Given the description of an element on the screen output the (x, y) to click on. 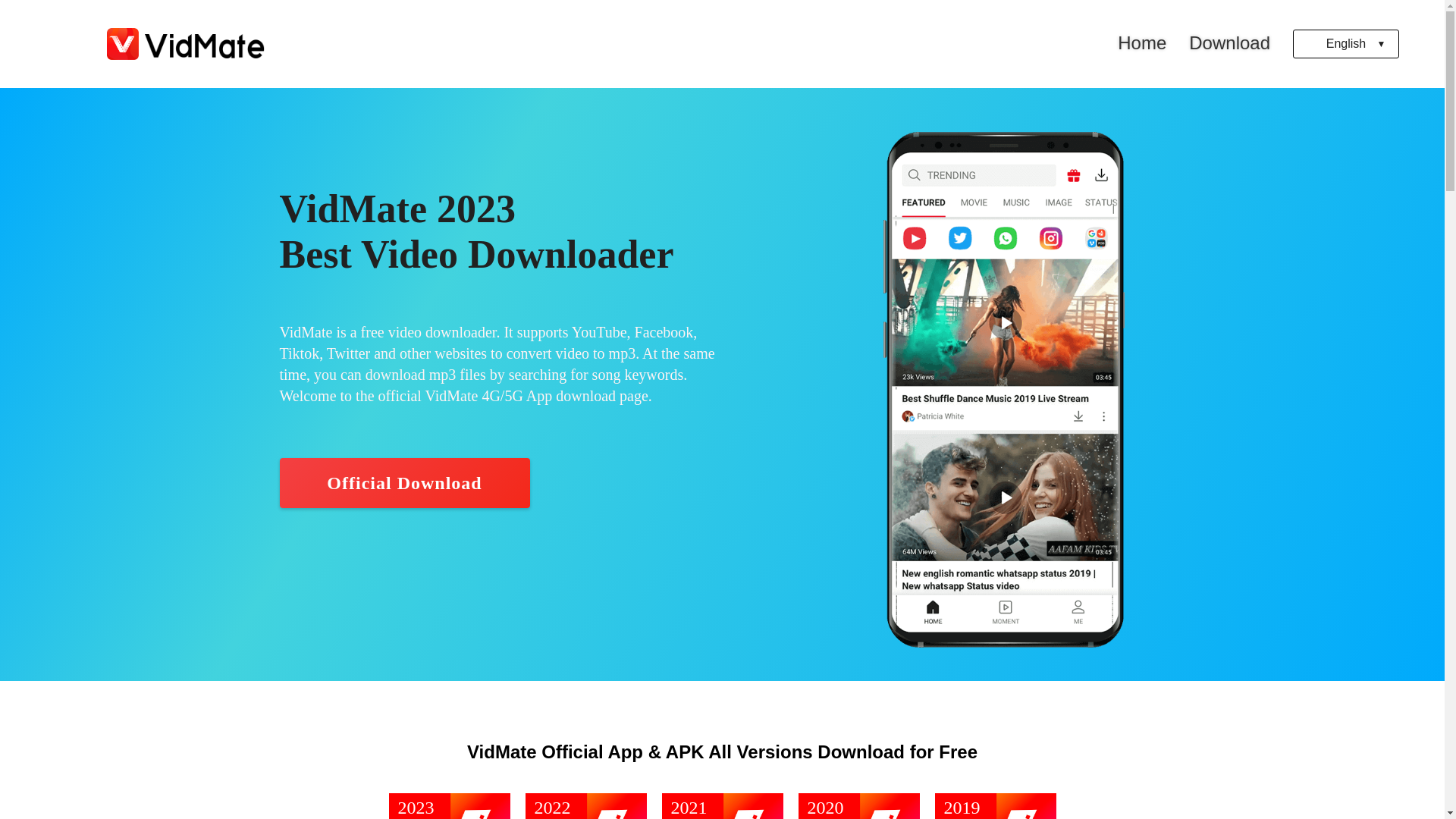
Official Download Element type: text (404, 483)
Home Element type: text (1141, 42)
Download Element type: text (1229, 42)
